Given the description of an element on the screen output the (x, y) to click on. 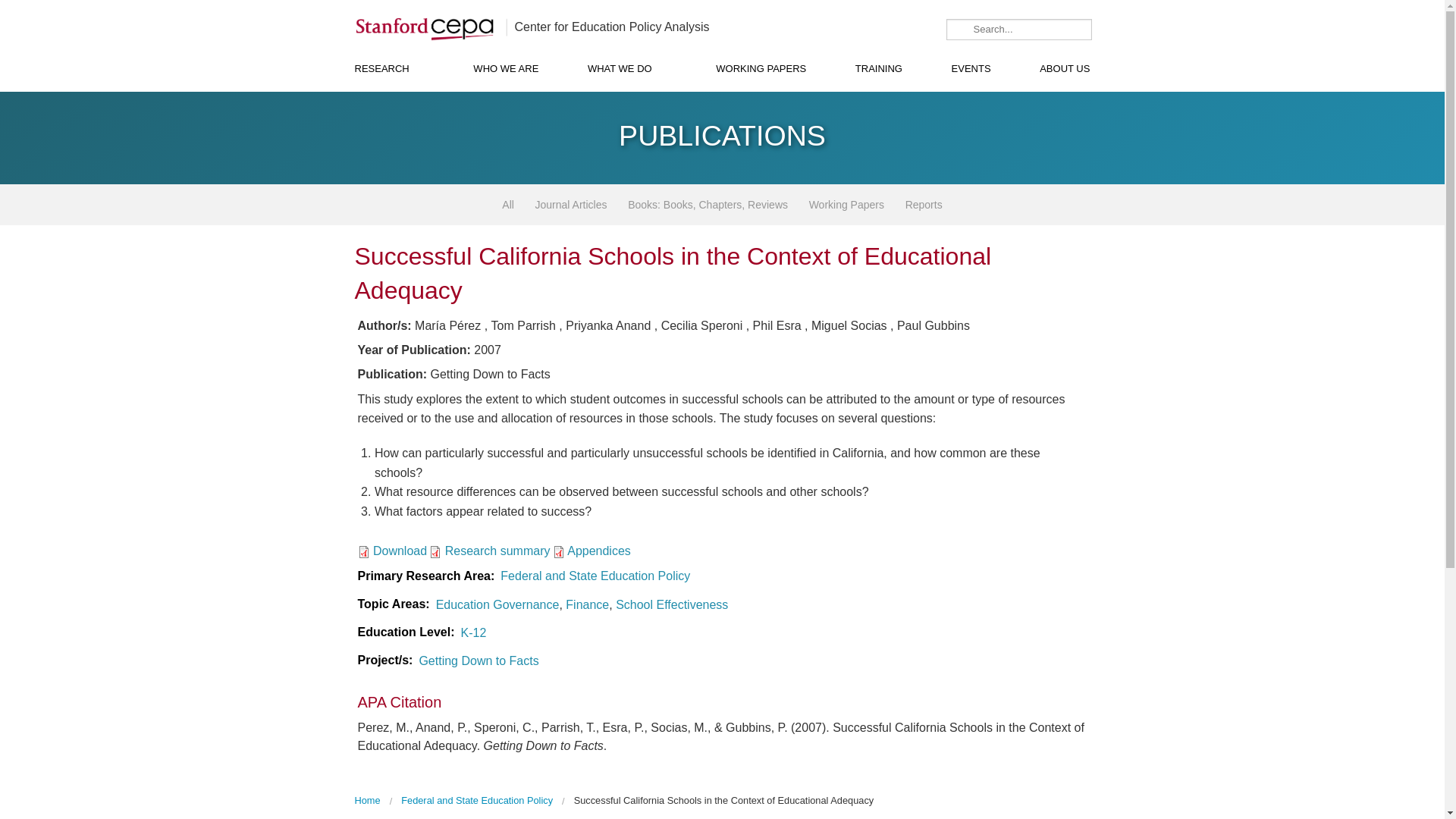
PUBLICATIONS (627, 102)
Center for Education Policy Analysis Home (611, 26)
WHO WE ARE (505, 68)
PROJECTS (627, 136)
WORKING PAPERS (760, 68)
Center for Education Policy Analysis (611, 26)
TOPIC AREAS (388, 136)
RESEARCH AREAS (388, 102)
WHAT WE DO (627, 68)
